Given the description of an element on the screen output the (x, y) to click on. 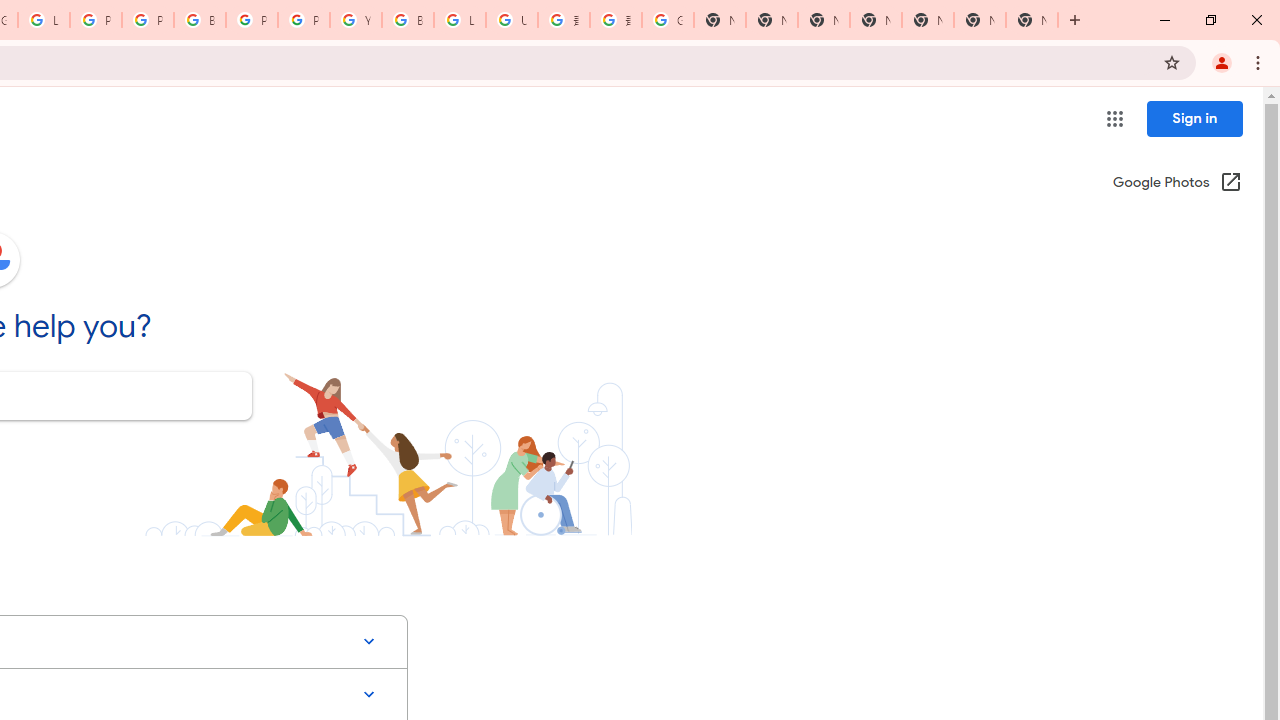
New Tab (1032, 20)
New Tab (875, 20)
YouTube (355, 20)
